Given the description of an element on the screen output the (x, y) to click on. 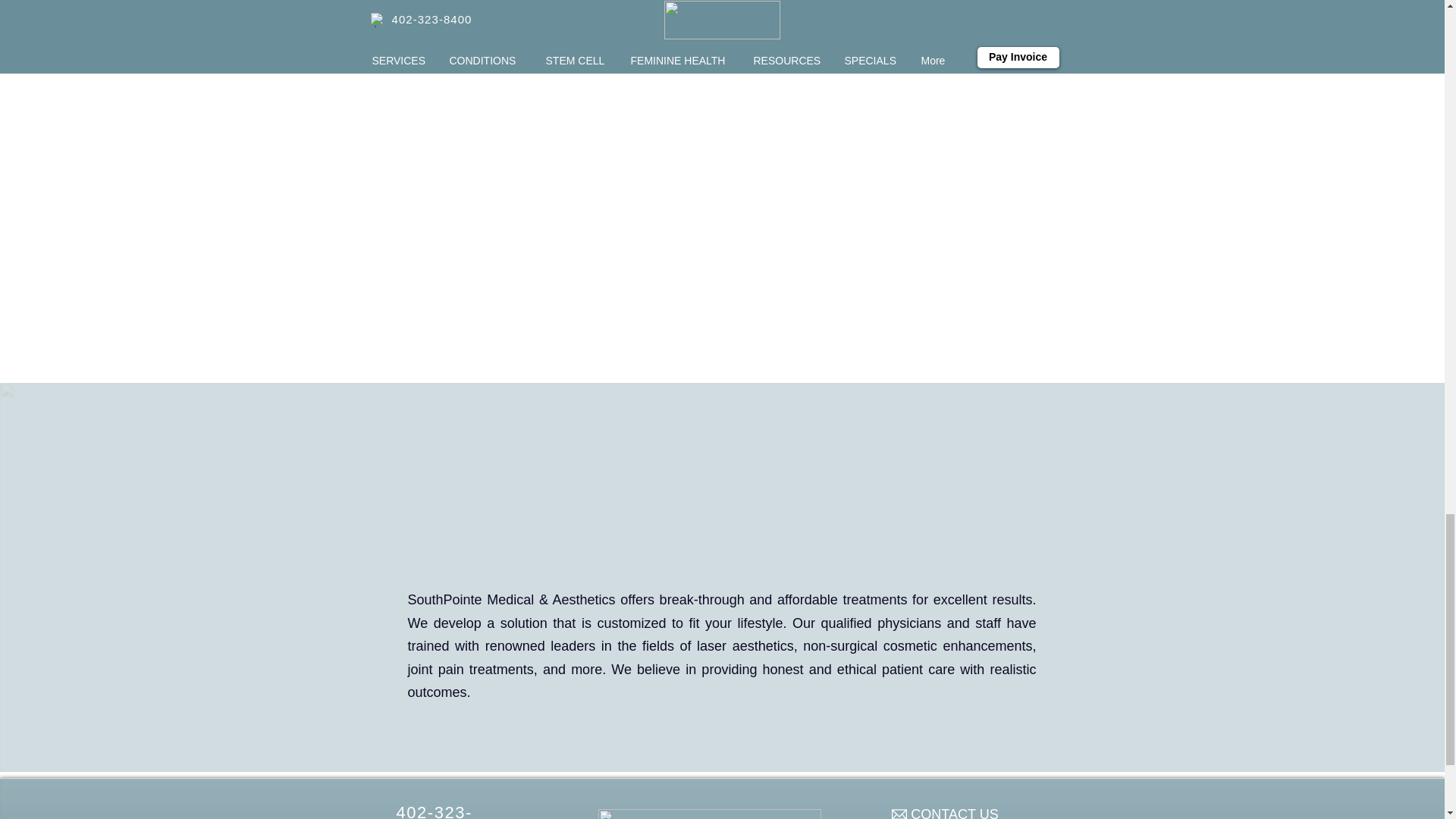
Logo - SPMA wht.png (708, 814)
